Given the description of an element on the screen output the (x, y) to click on. 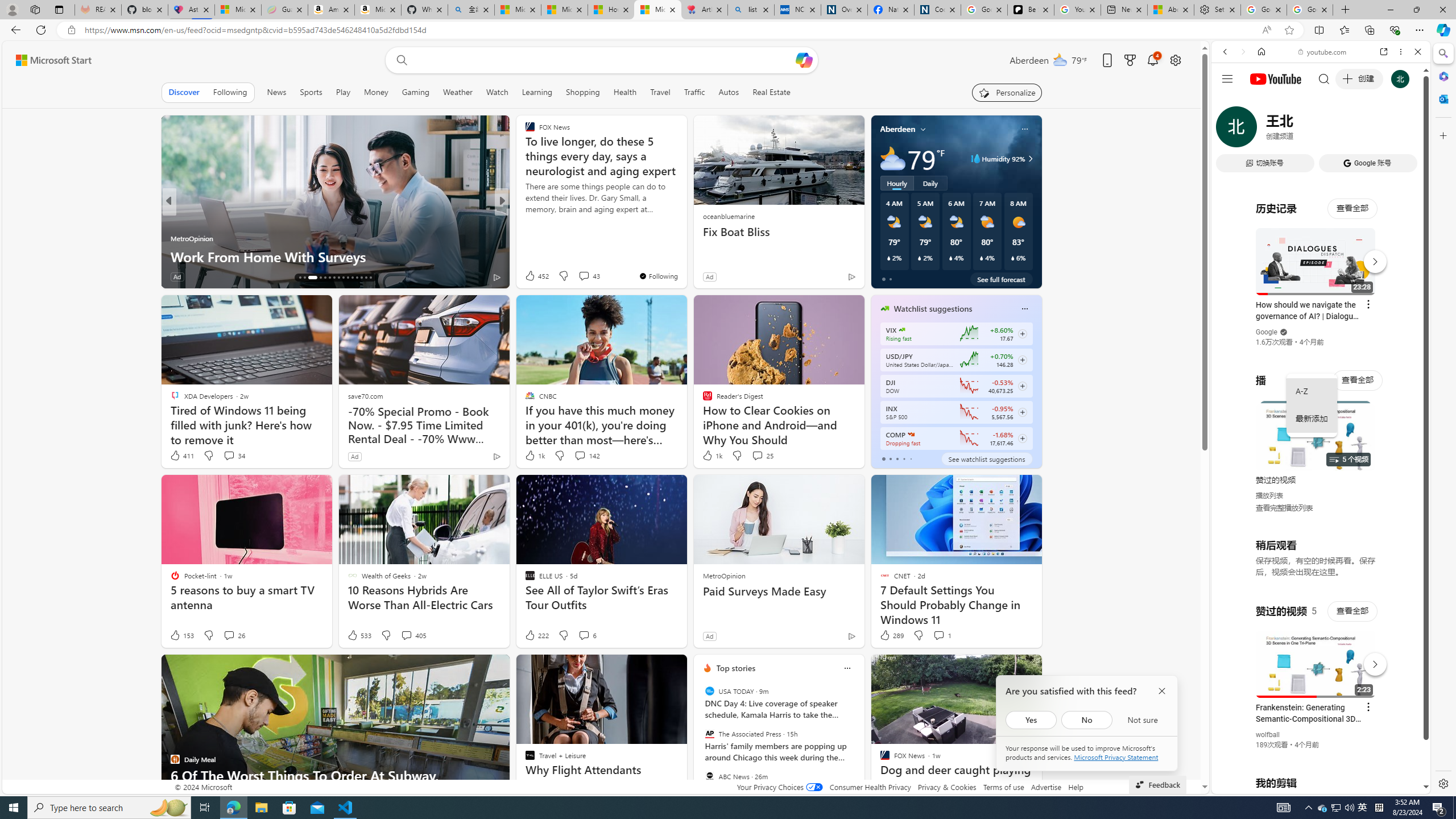
View comments 142 Comment (586, 455)
View comments 67 Comment (585, 276)
Your Privacy Choices (779, 786)
Watch (497, 92)
Sports (310, 92)
The Register (524, 219)
AutomationID: tab-20 (324, 277)
Hide this story (1007, 668)
